Given the description of an element on the screen output the (x, y) to click on. 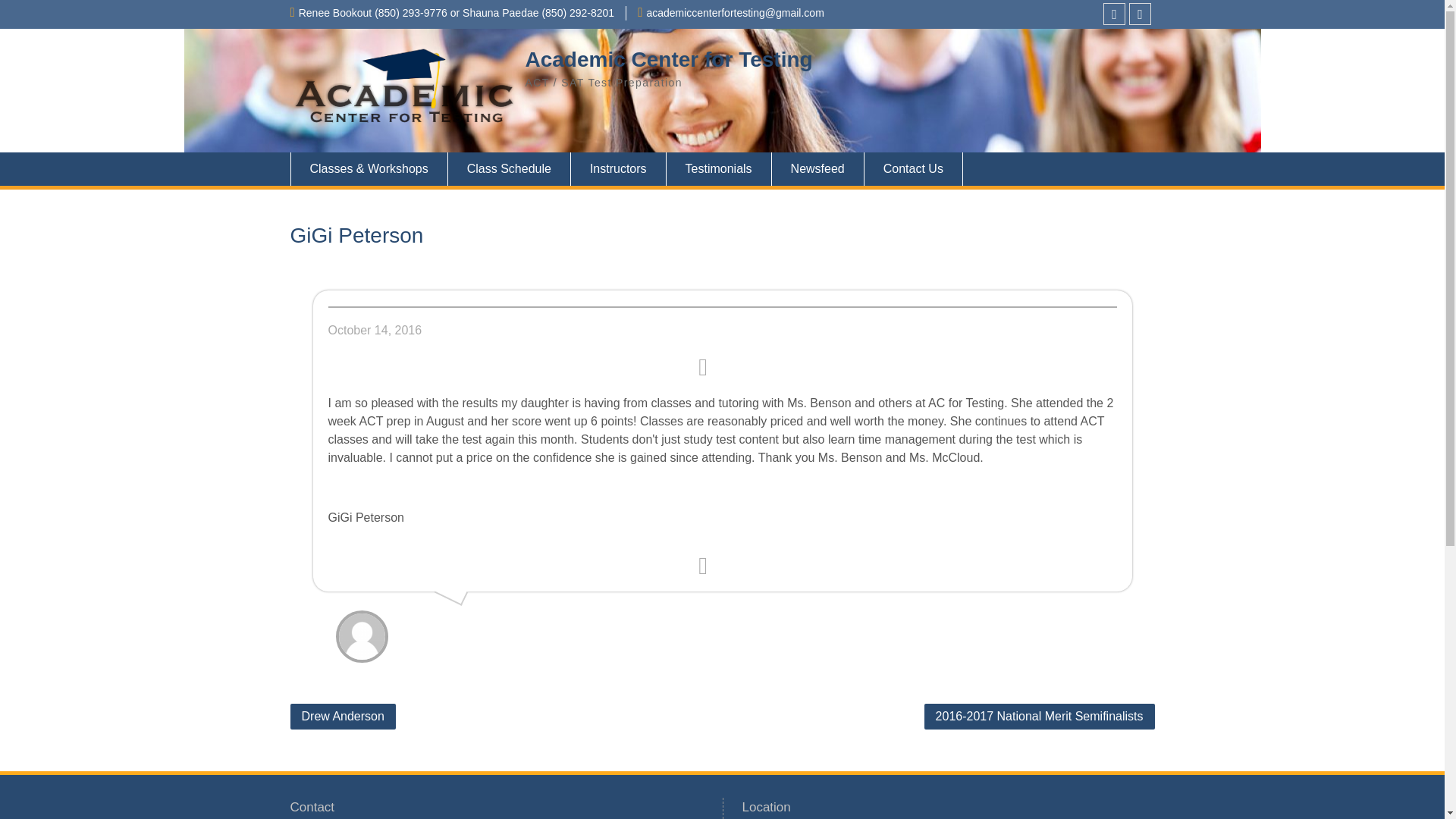
Facebook Page (1114, 14)
Drew Anderson (341, 716)
Newsfeed (817, 168)
Contact Us (913, 168)
Google Plus (1140, 14)
Instructors (618, 168)
Testimonials (718, 168)
Class Schedule (509, 168)
Academic Center for Testing (668, 59)
2016-2017 National Merit Semifinalists (1039, 716)
